Given the description of an element on the screen output the (x, y) to click on. 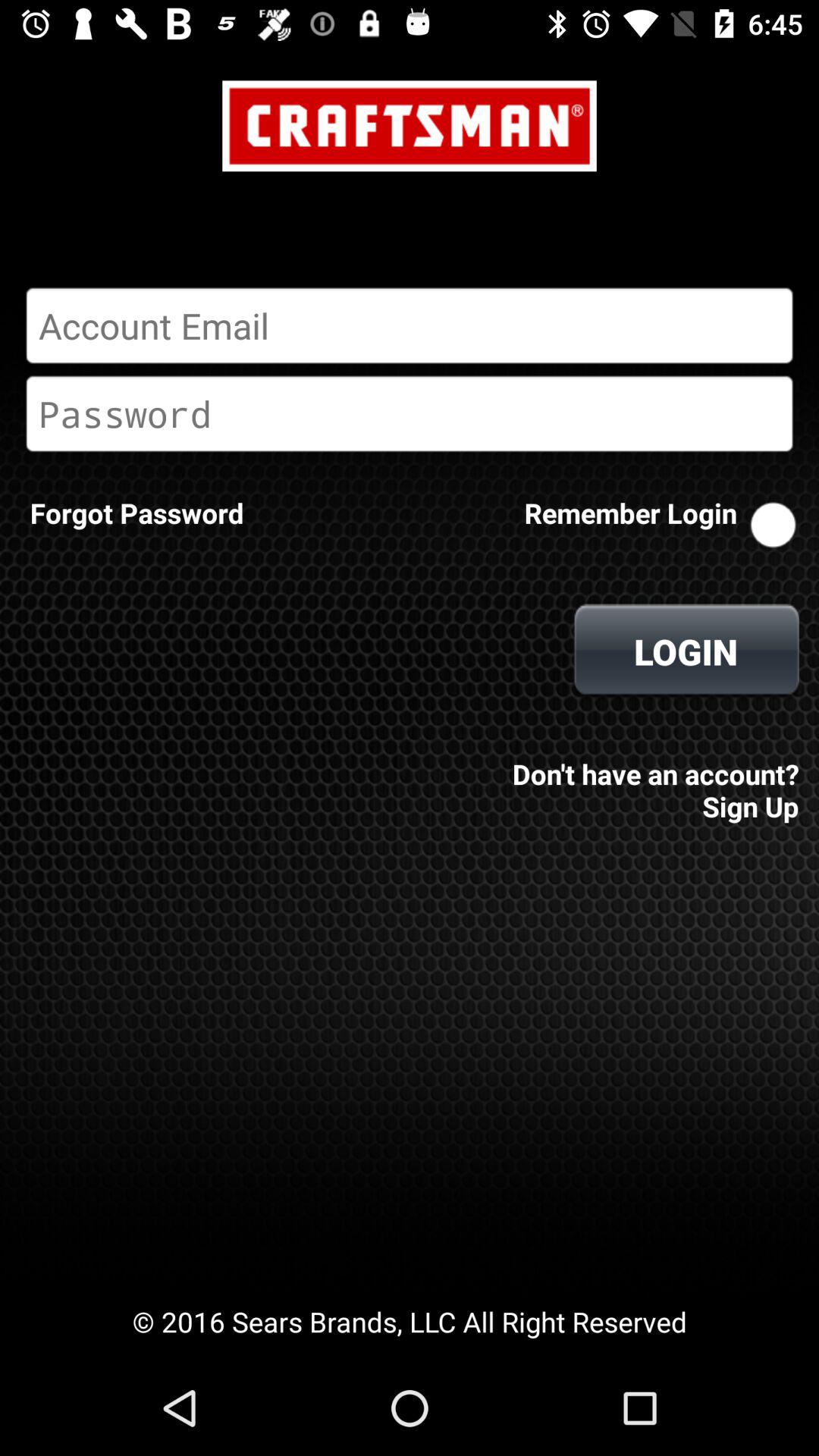
toggle remember login option (773, 524)
